Given the description of an element on the screen output the (x, y) to click on. 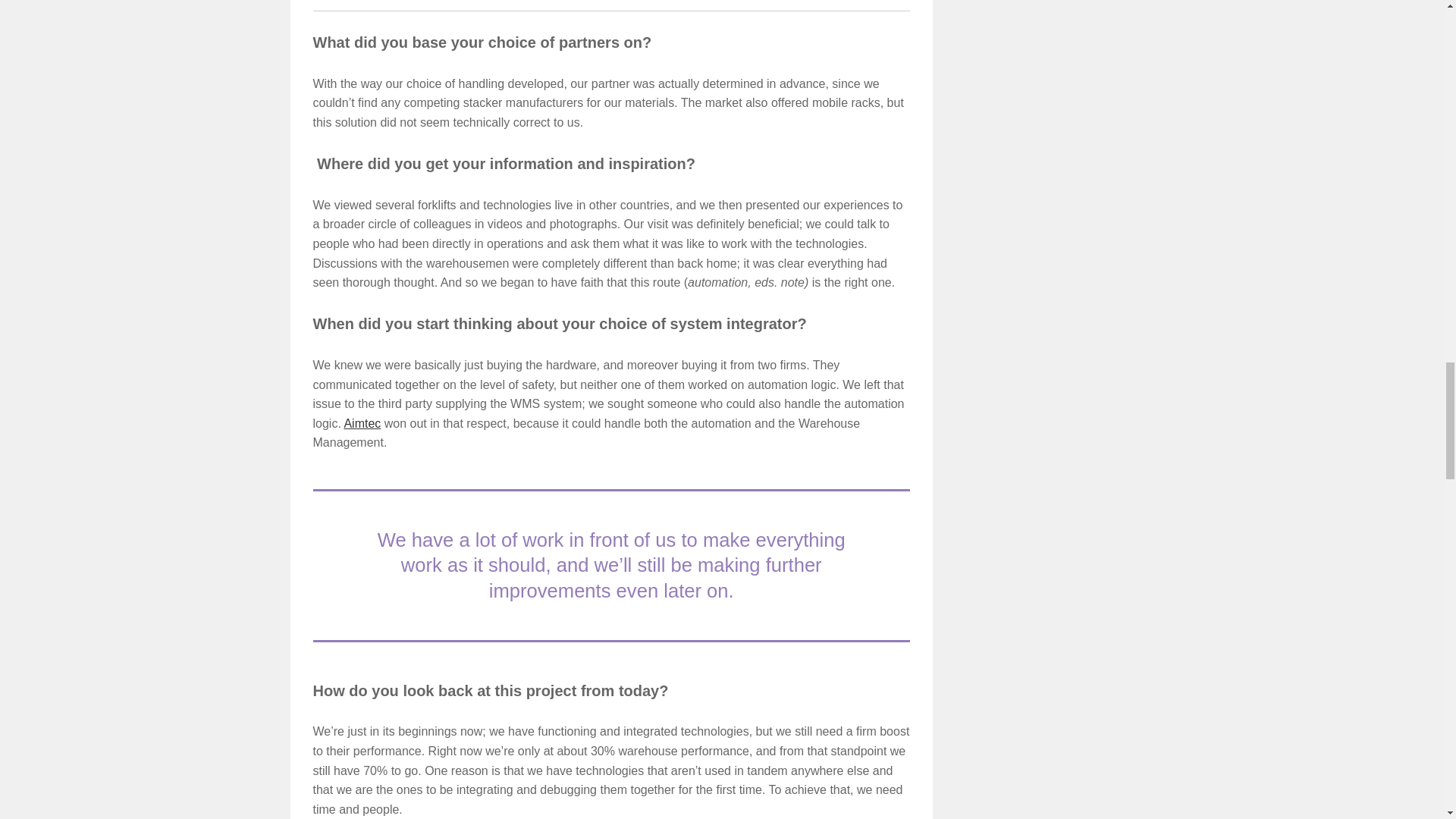
Aimtec (361, 422)
